Given the description of an element on the screen output the (x, y) to click on. 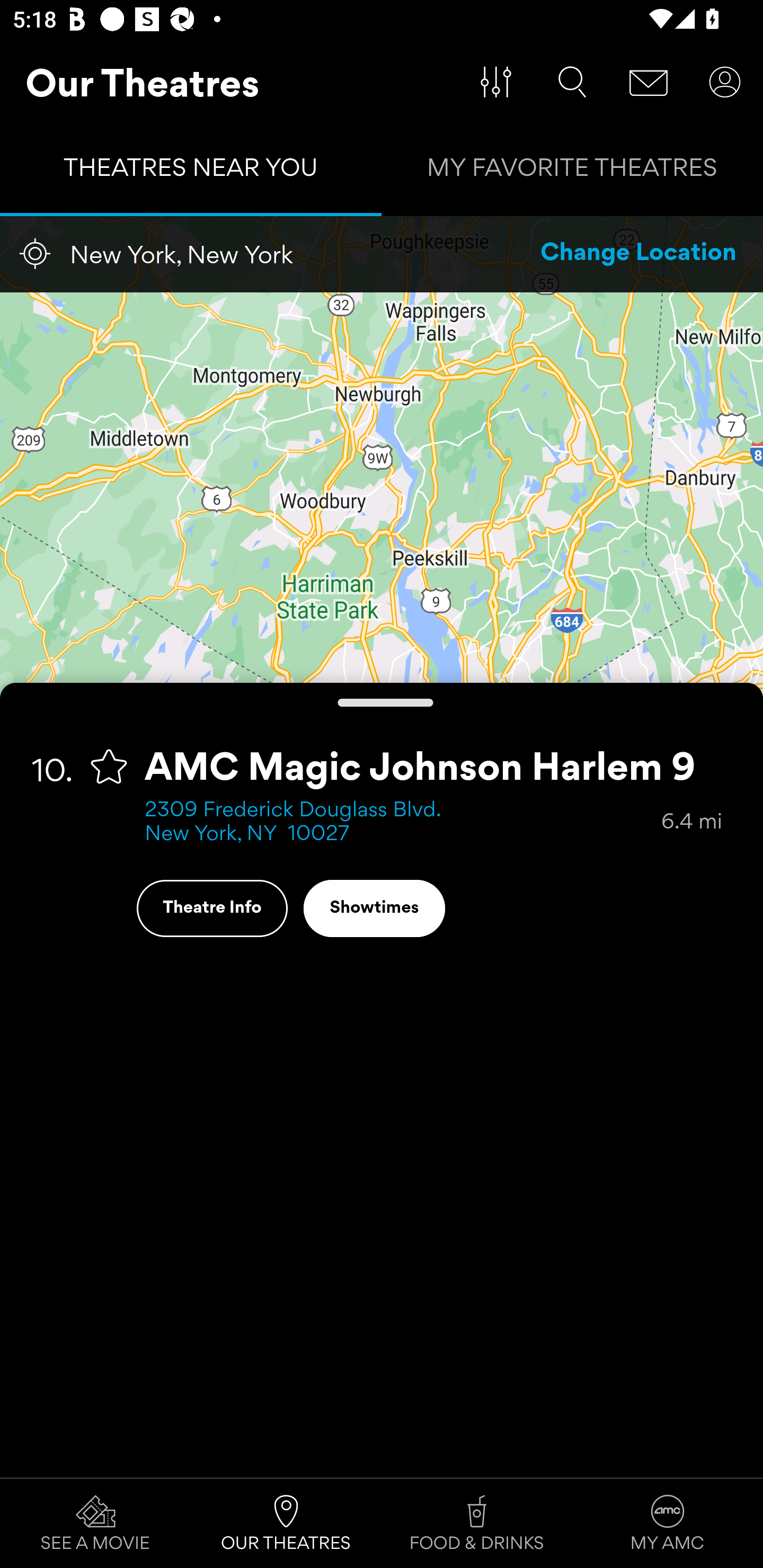
Filter Theatres (495, 82)
Search (572, 82)
Message Center (648, 82)
User Account (724, 82)
THEATRES NEAR YOU
Tab 1 of 2 (190, 171)
MY FAVORITE THEATRES
Tab 2 of 2 (572, 171)
Change Location (639, 253)
Theatre Info (211, 908)
Showtimes (373, 908)
SEE A MOVIE
Tab 1 of 4 (95, 1523)
OUR THEATRES
Tab 2 of 4 (285, 1523)
FOOD & DRINKS
Tab 3 of 4 (476, 1523)
MY AMC
Tab 4 of 4 (667, 1523)
